Given the description of an element on the screen output the (x, y) to click on. 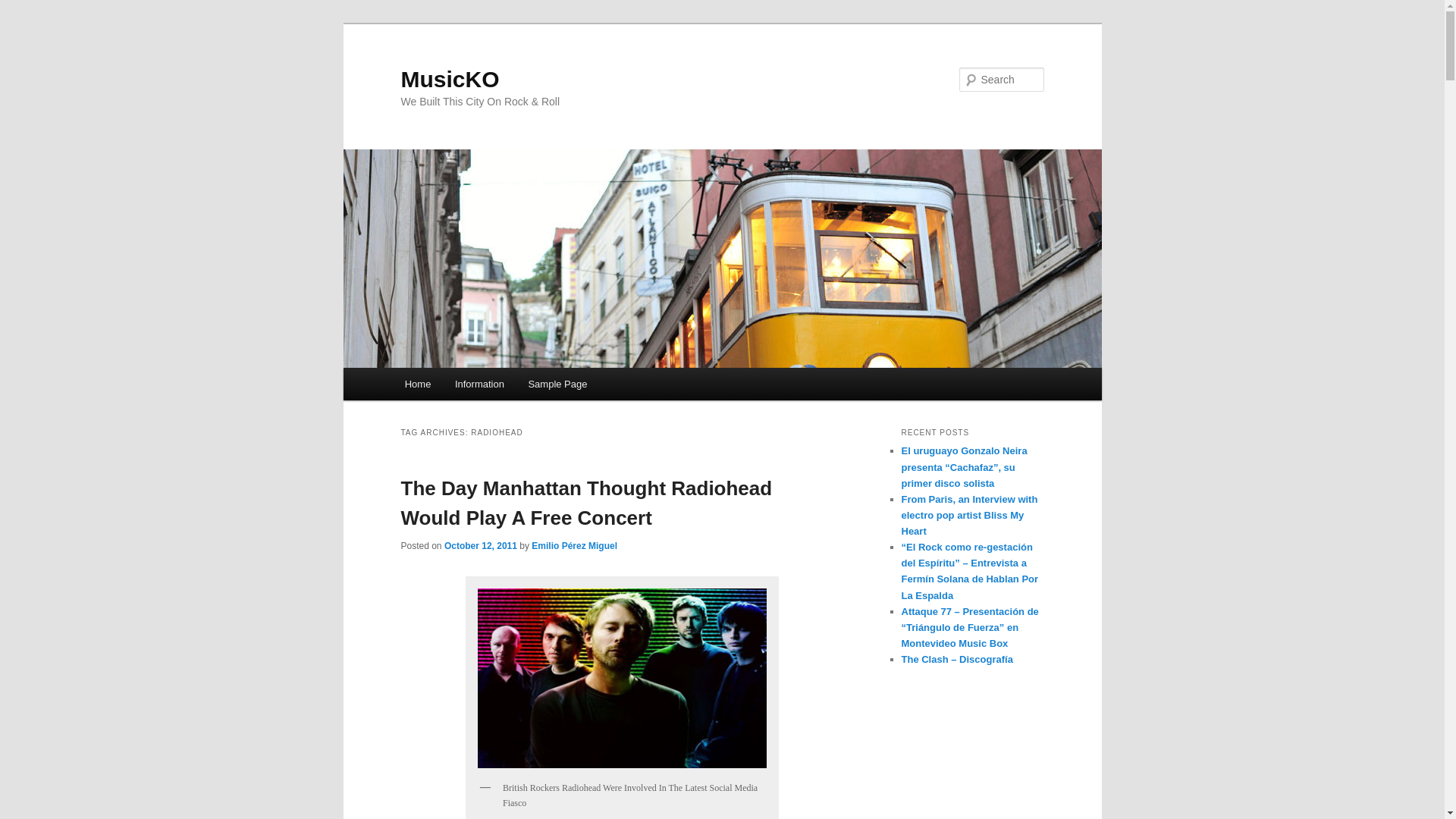
October 12, 2011 (480, 545)
Search (24, 8)
Information (479, 383)
6:15 am (480, 545)
Sample Page (557, 383)
radiohead (621, 678)
MusicKO (449, 78)
Home (417, 383)
